Given the description of an element on the screen output the (x, y) to click on. 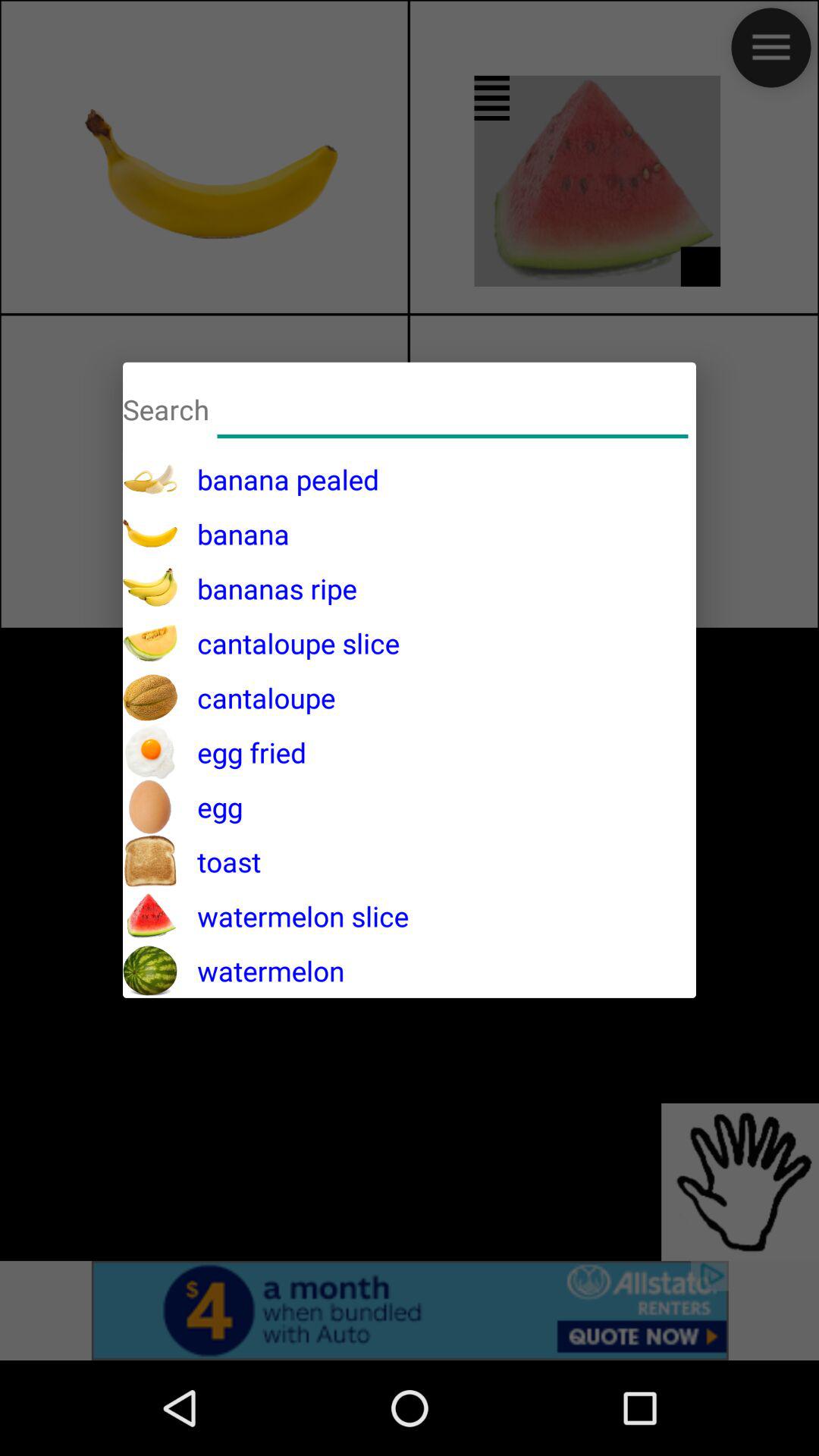
flip until bananas ripe icon (267, 588)
